Given the description of an element on the screen output the (x, y) to click on. 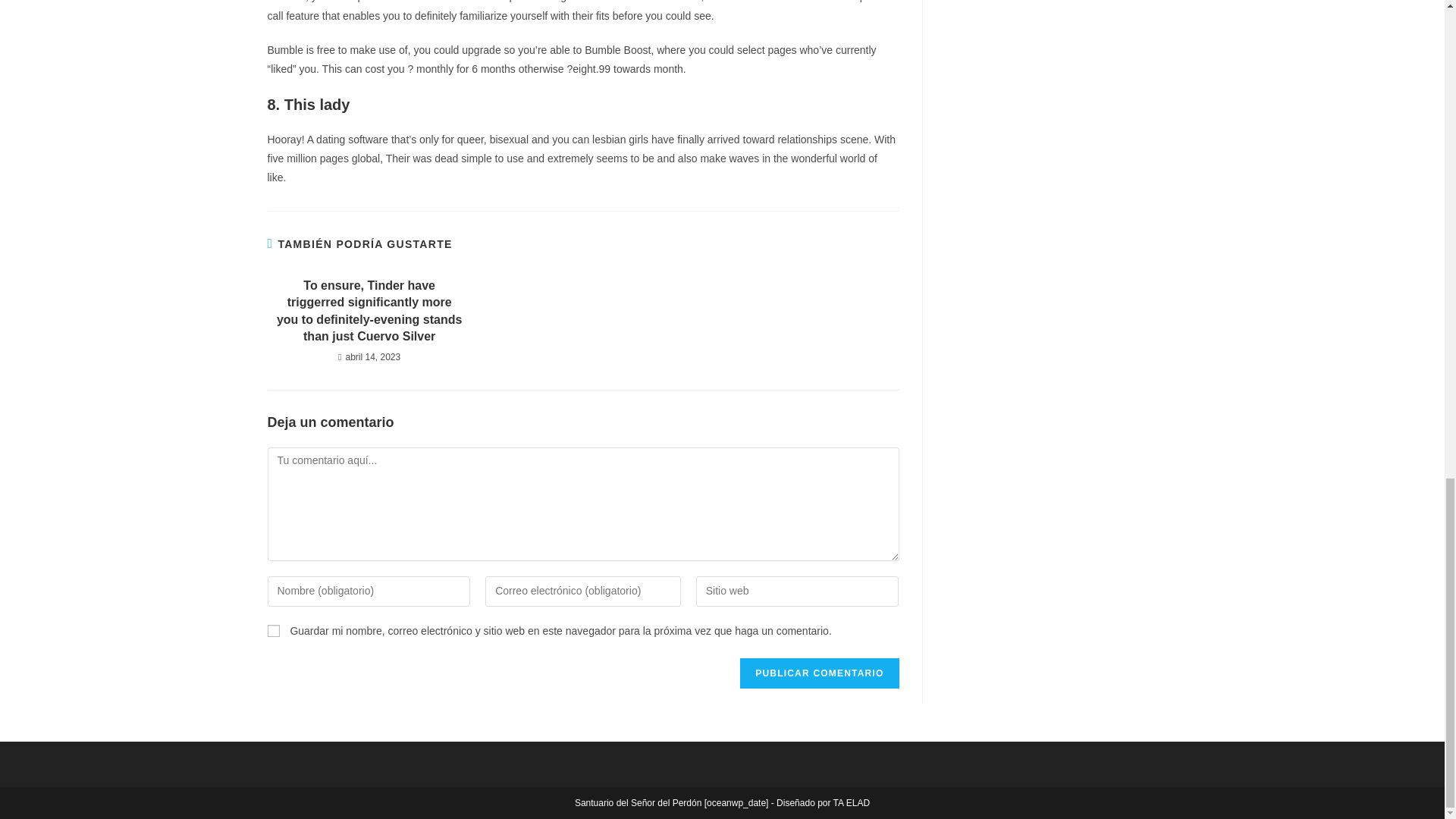
yes (272, 630)
Publicar comentario (818, 673)
Publicar comentario (818, 673)
